Given the description of an element on the screen output the (x, y) to click on. 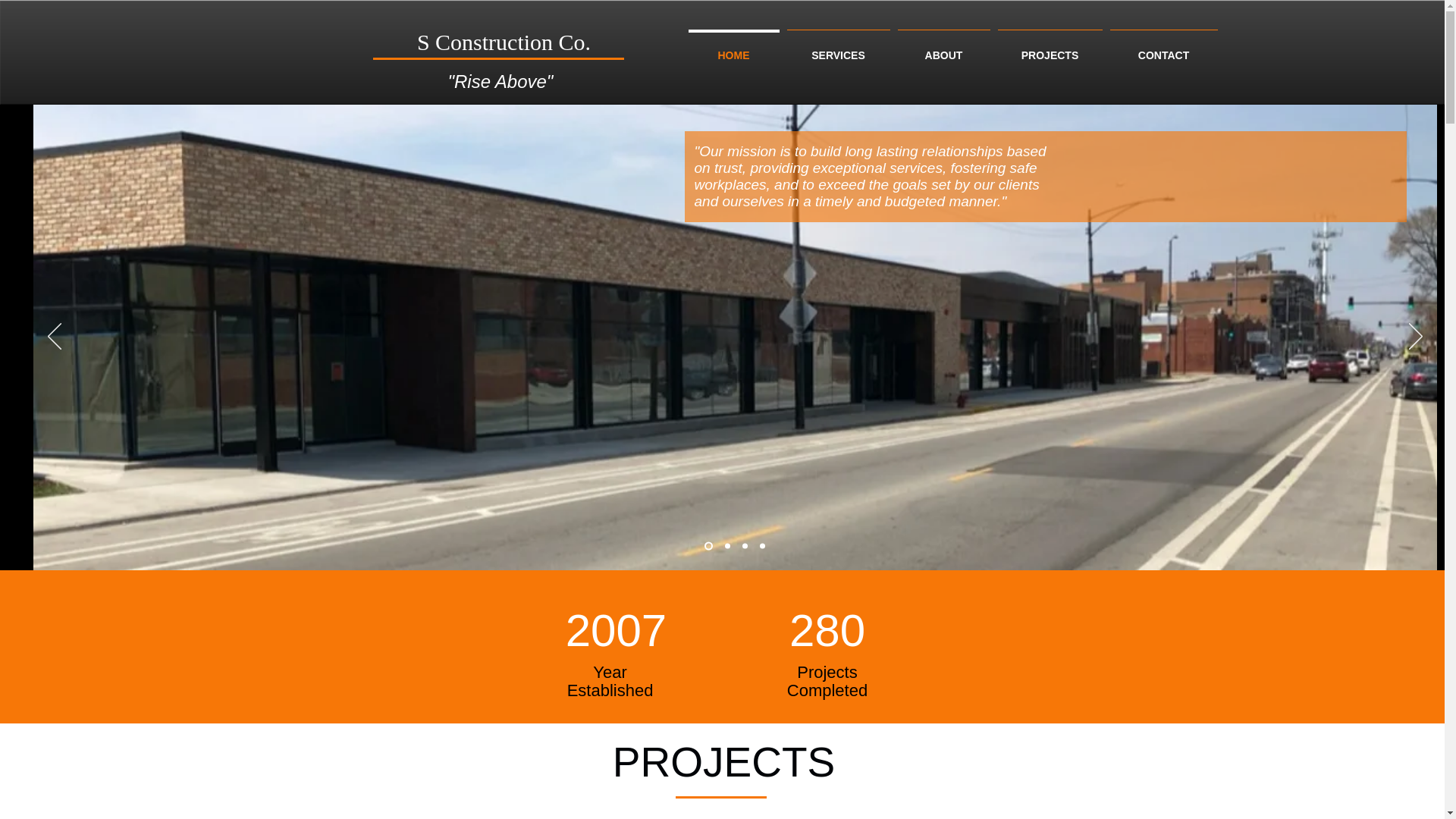
PROJECTS (1048, 48)
HOME (733, 48)
S Construction Co. (503, 41)
ABOUT (942, 48)
SERVICES (838, 48)
CONTACT (1163, 48)
